Given the description of an element on the screen output the (x, y) to click on. 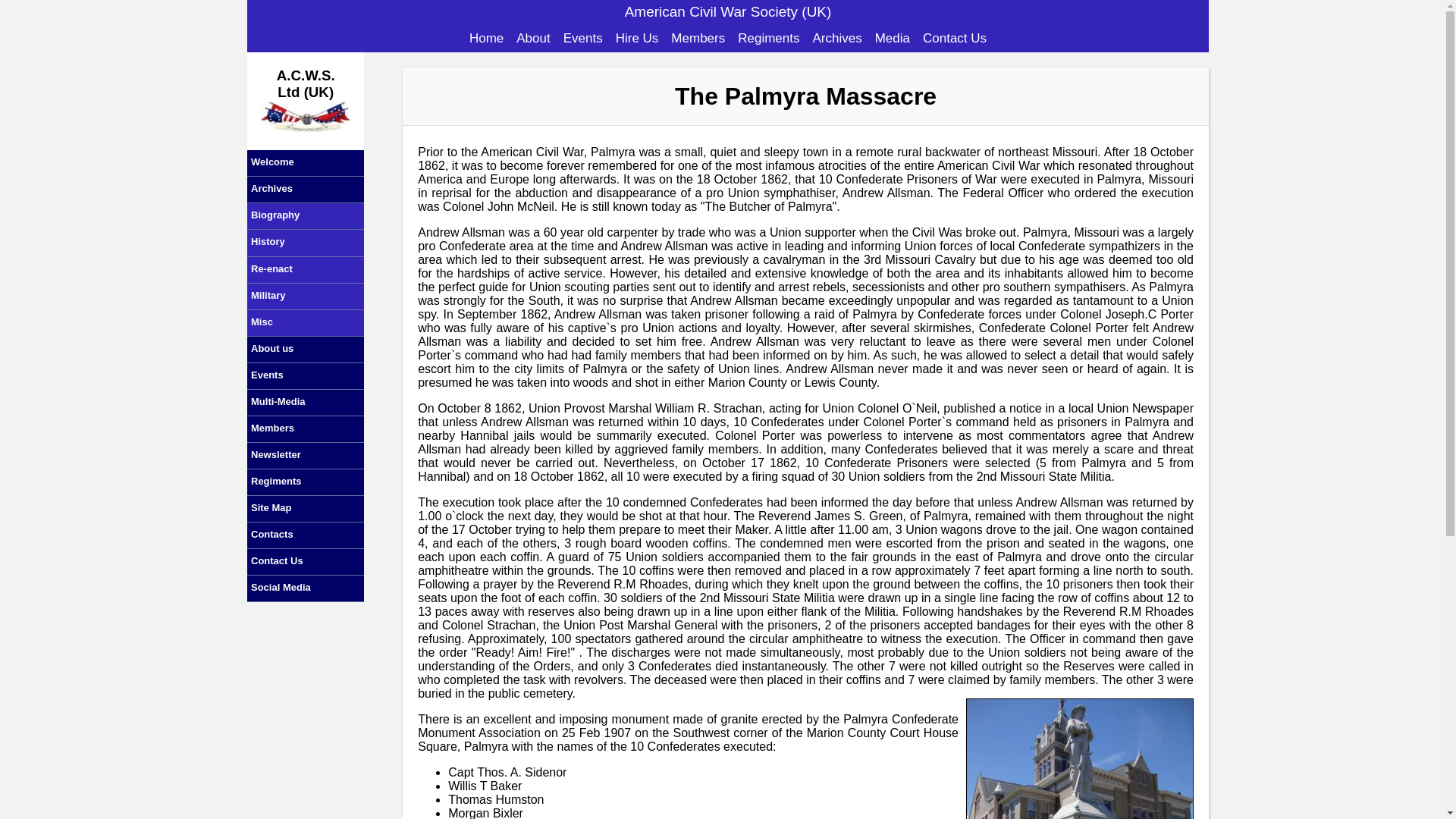
Hire Us (636, 38)
Archives (836, 38)
Home (486, 38)
Regiments (769, 38)
Members (698, 38)
About (533, 38)
ACWS Home Page (486, 38)
Events (582, 38)
ACWS Events Calendar (582, 38)
